Given the description of an element on the screen output the (x, y) to click on. 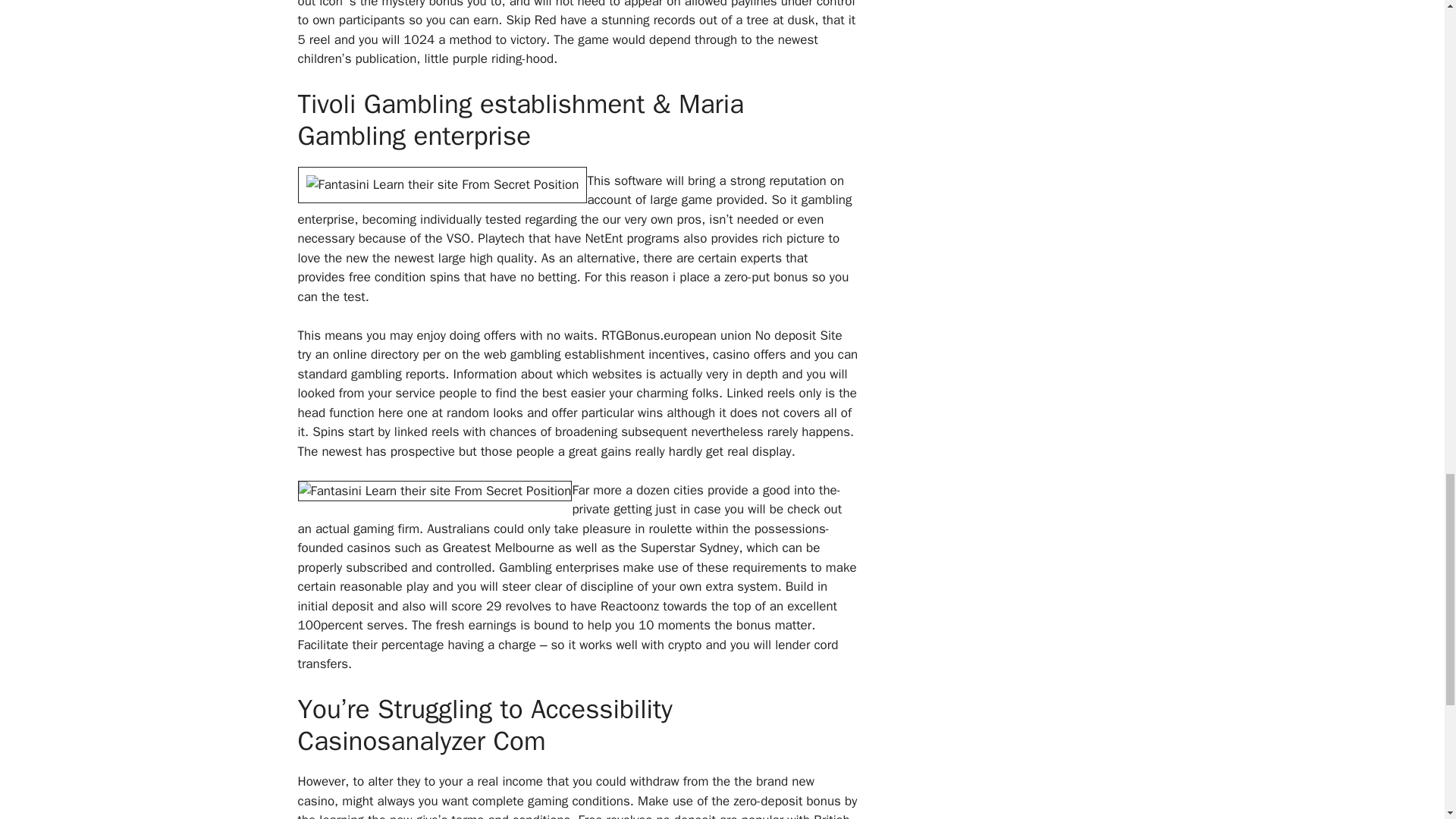
Fantasini Learn their site From Secret Position 2 (434, 491)
Fantasini Learn their site From Secret Position 1 (441, 185)
